Given the description of an element on the screen output the (x, y) to click on. 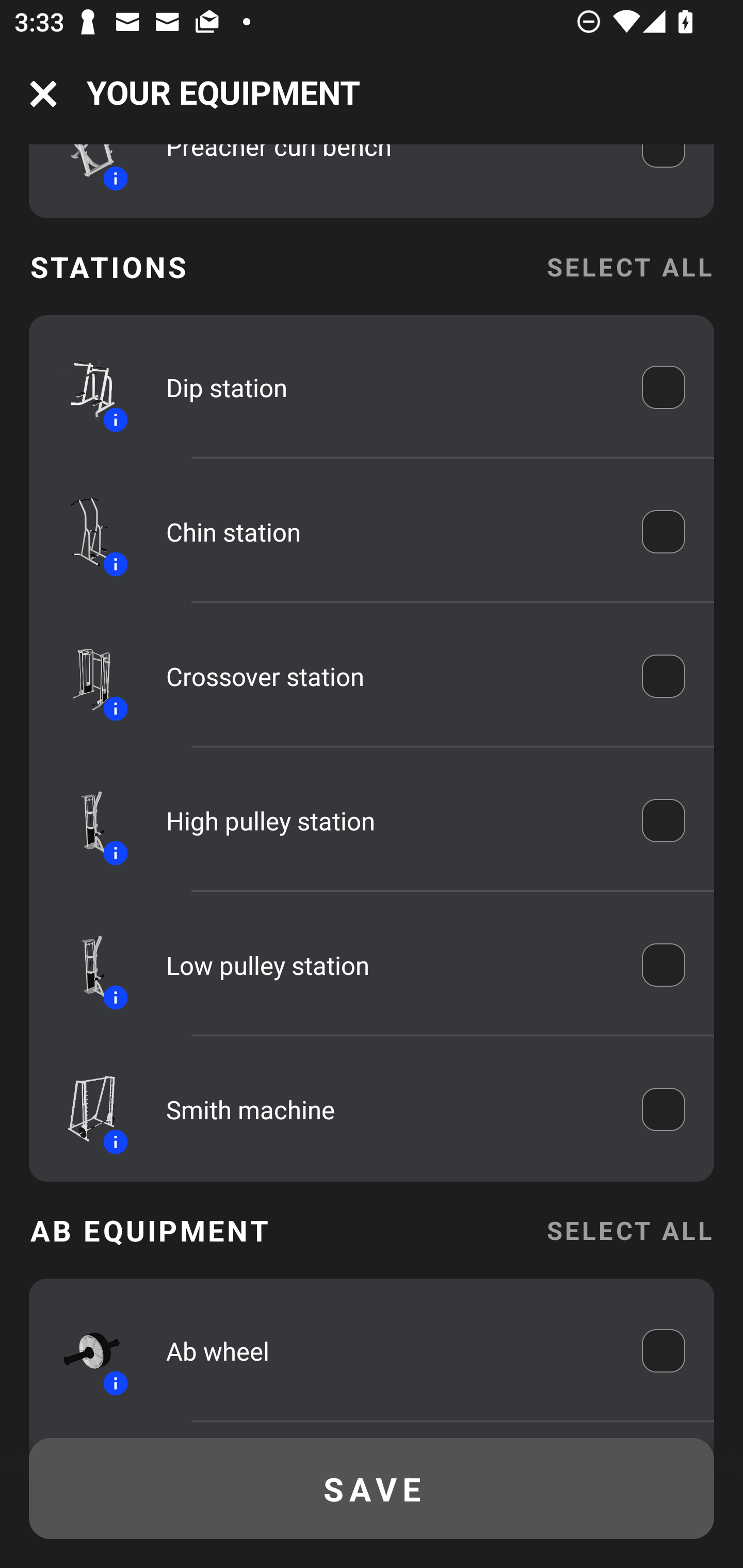
Navigation icon (43, 93)
Equipment icon Information icon (82, 172)
Preacher curl bench (389, 166)
SELECT ALL (629, 266)
Equipment icon Information icon (82, 387)
Dip station (389, 387)
Equipment icon Information icon (82, 532)
Chin station (389, 532)
Equipment icon Information icon (82, 676)
Crossover station (389, 676)
Equipment icon Information icon (82, 820)
High pulley station (389, 820)
Equipment icon Information icon (82, 965)
Low pulley station (389, 964)
Equipment icon Information icon (82, 1109)
Smith machine (389, 1109)
SELECT ALL (629, 1229)
Equipment icon Information icon (82, 1350)
Ab wheel (389, 1350)
SAVE (371, 1488)
